Given the description of an element on the screen output the (x, y) to click on. 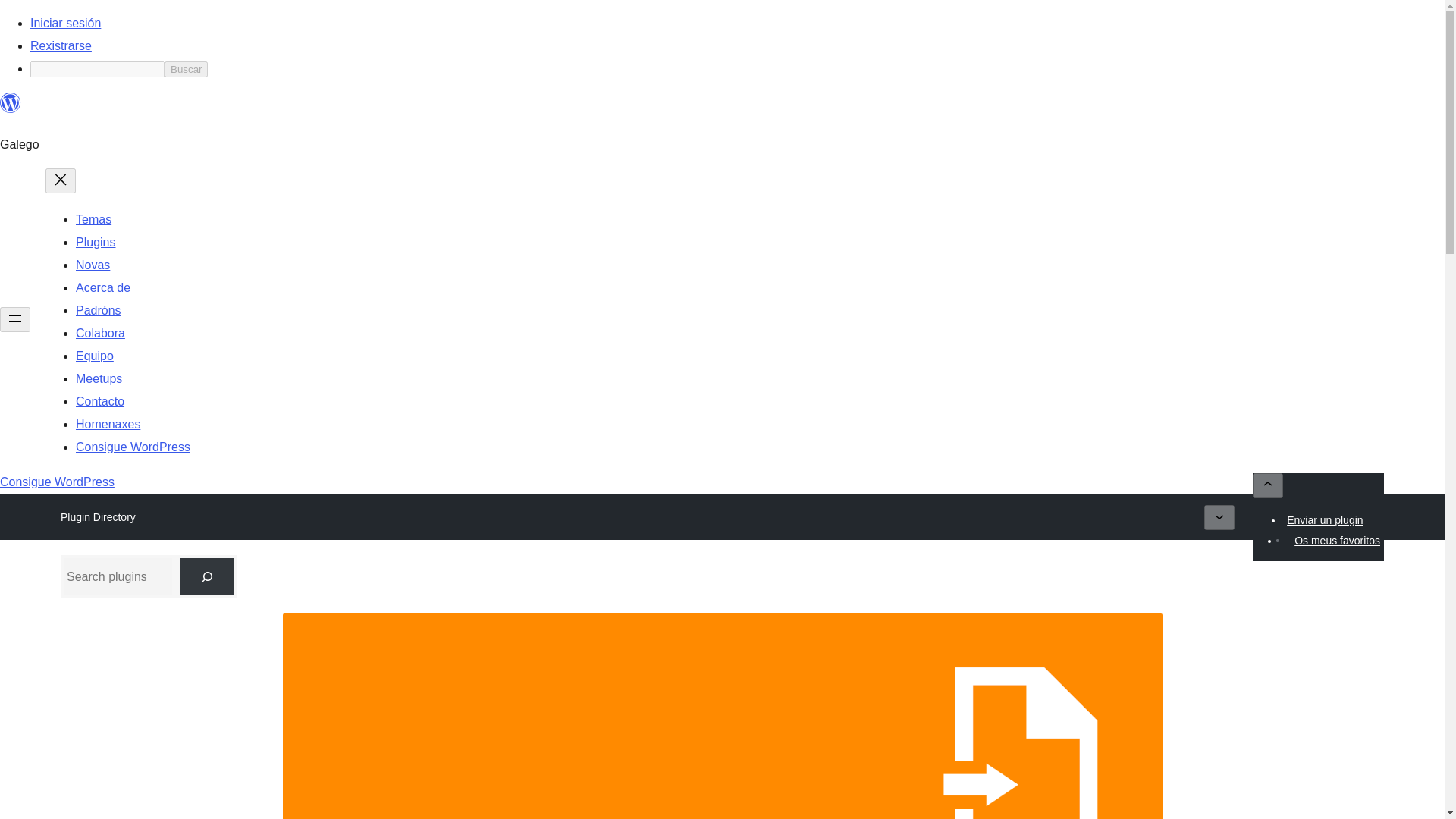
Equipo (94, 355)
Consigue WordPress (132, 446)
Buscar (186, 68)
WordPress.org (10, 102)
Homenaxes (107, 423)
Plugin Directory (97, 516)
Os meus favoritos (1337, 540)
Plugins (95, 241)
Buscar (186, 68)
Consigue WordPress (57, 481)
Enviar un plugin (1324, 519)
WordPress.org (10, 109)
Meetups (98, 378)
Rexistrarse (60, 45)
Temas (93, 219)
